Given the description of an element on the screen output the (x, y) to click on. 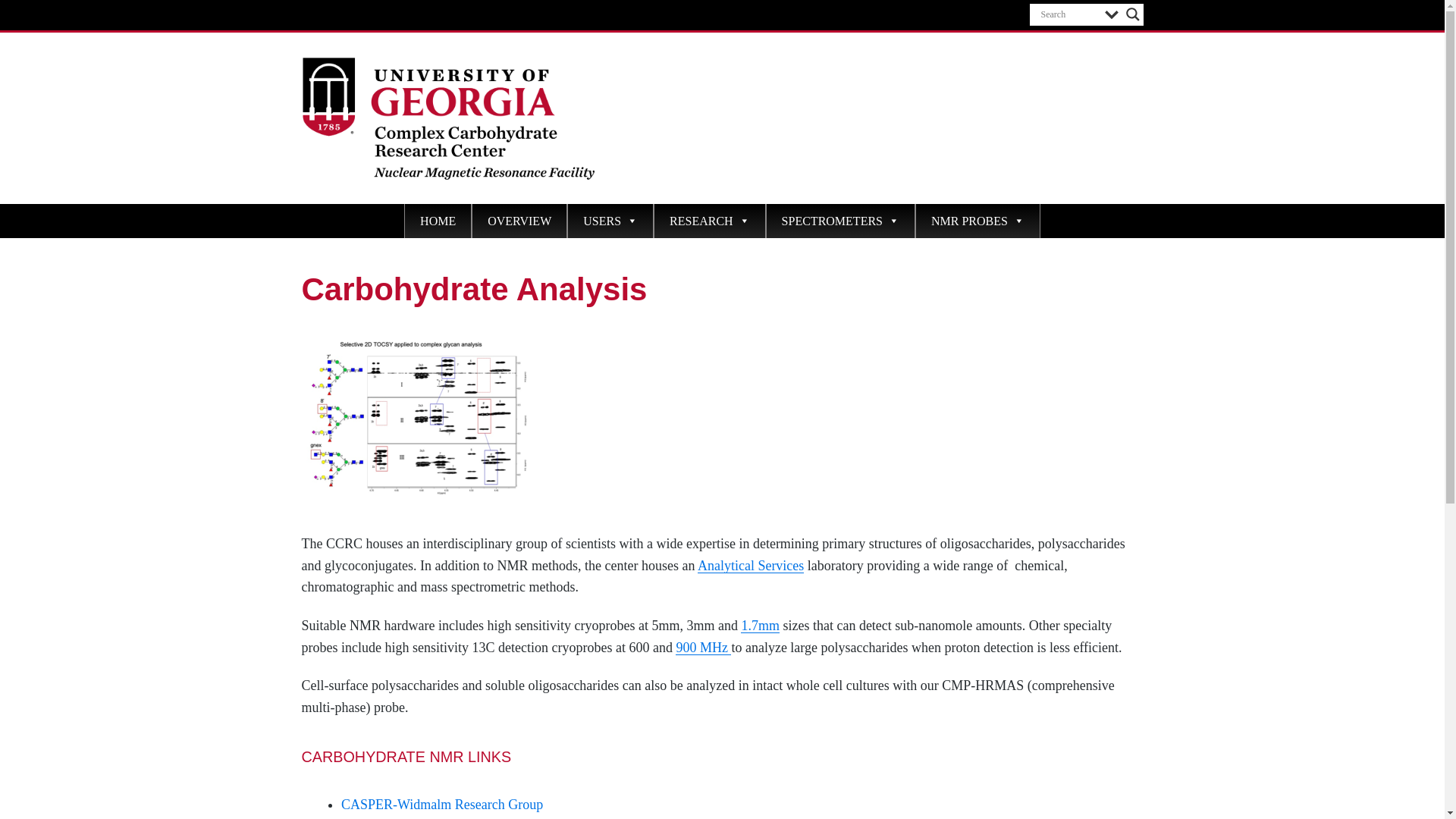
OVERVIEW (519, 220)
Carbohydrates (415, 420)
RESEARCH (709, 220)
USERS (610, 220)
Nuclear Magnetic Resonance Facility (421, 204)
HOME (437, 220)
University of Georgia (357, 15)
